Given the description of an element on the screen output the (x, y) to click on. 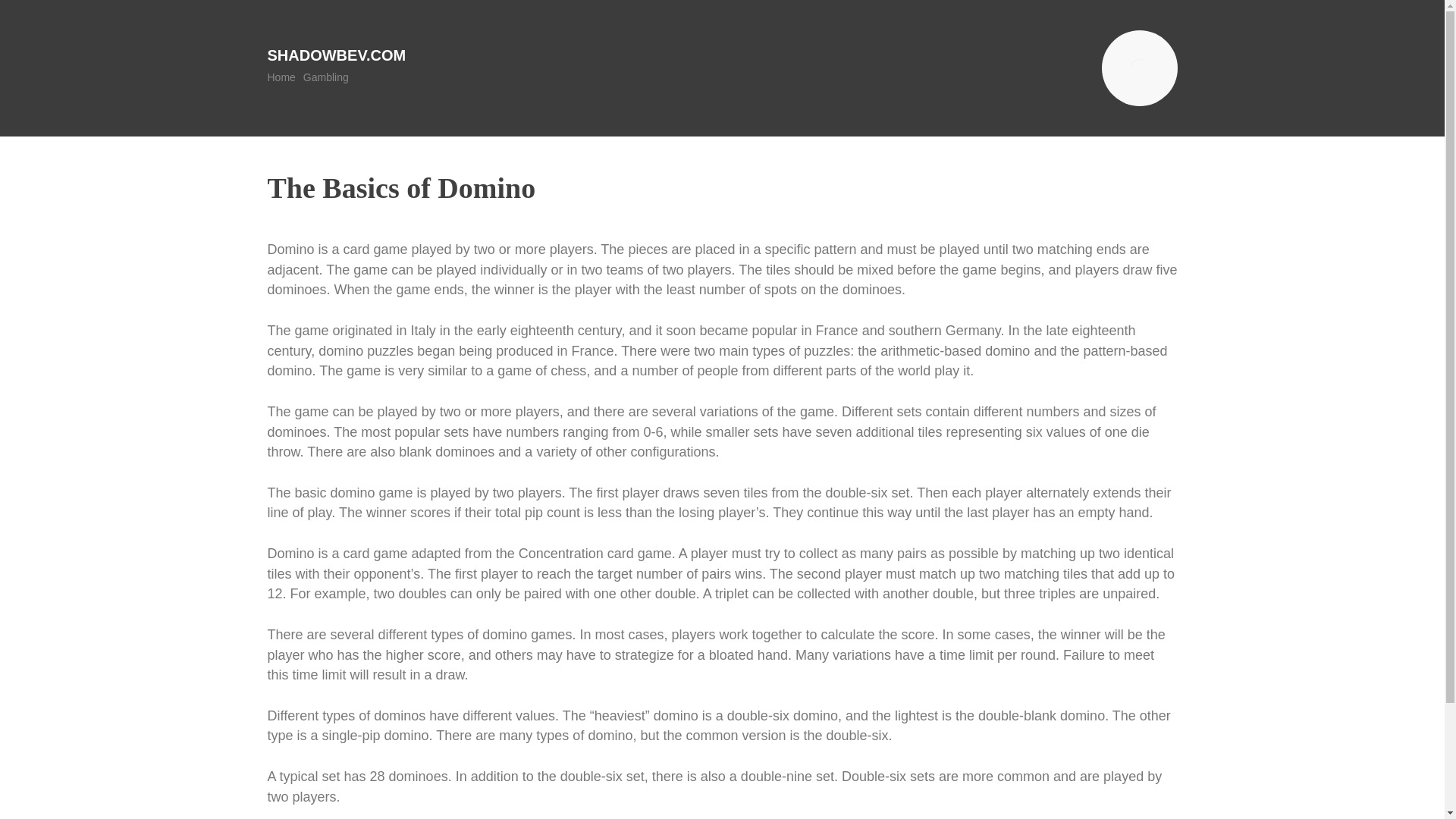
Home (280, 77)
Gambling (325, 77)
Shadowbev.com (336, 54)
SHADOWBEV.COM (336, 54)
